Given the description of an element on the screen output the (x, y) to click on. 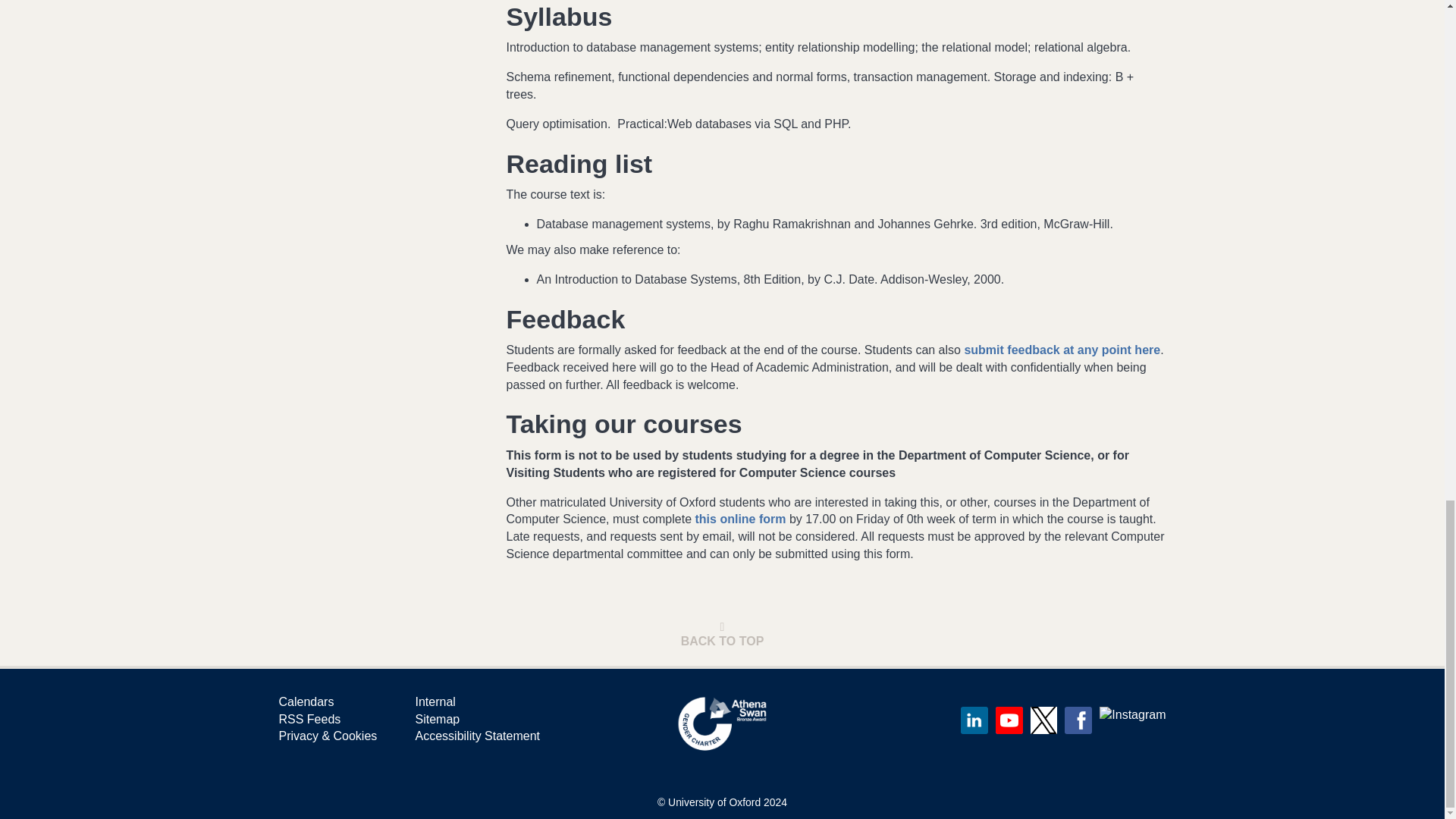
BACK TO TOP (722, 635)
submit feedback at any point here (1061, 349)
this online form (740, 518)
